Given the description of an element on the screen output the (x, y) to click on. 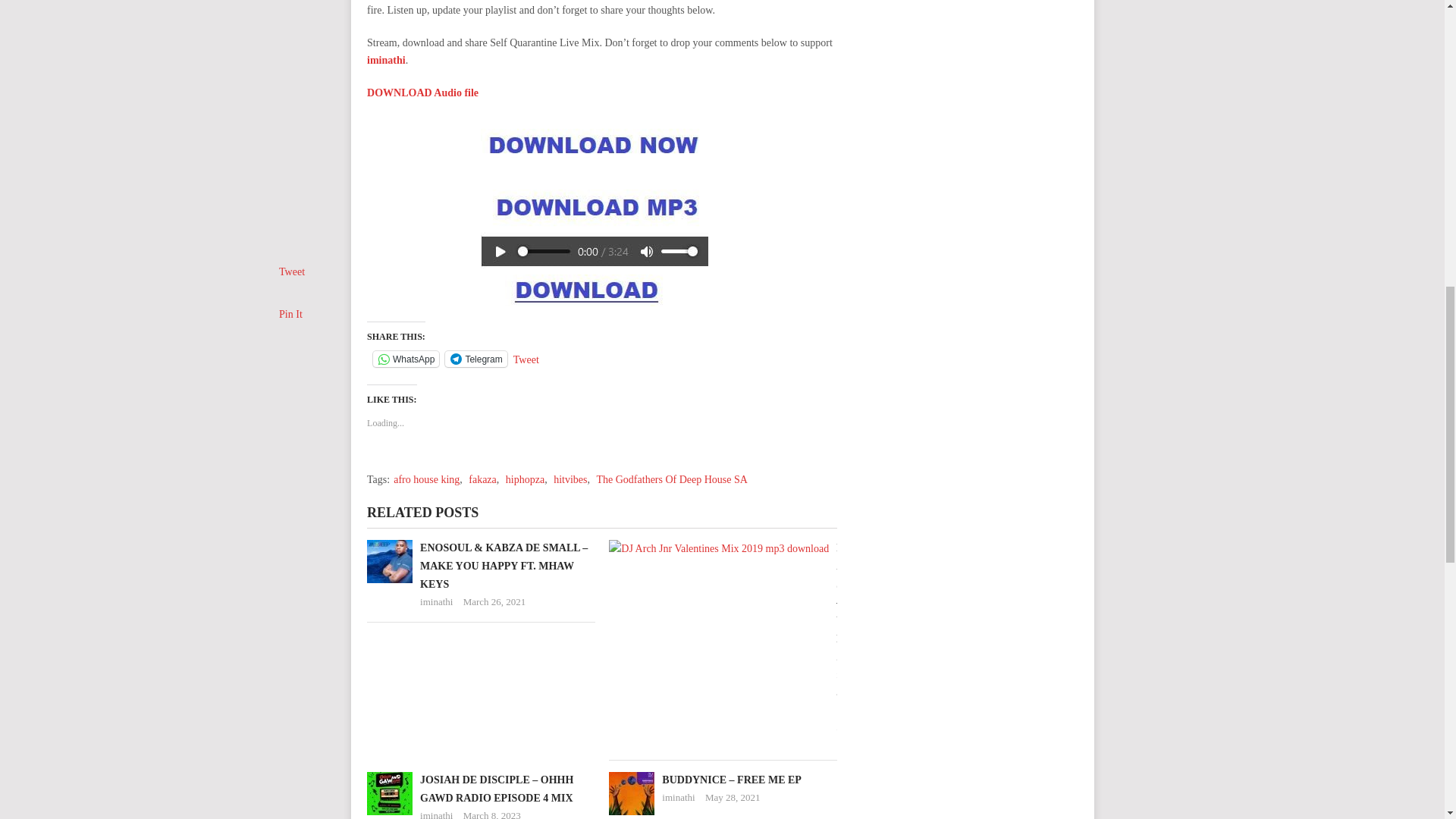
WhatsApp (405, 358)
Telegram (475, 358)
DOWNLOAD Audio file (422, 92)
afro house king (426, 479)
Tweet (525, 357)
iminathi (386, 60)
